Given the description of an element on the screen output the (x, y) to click on. 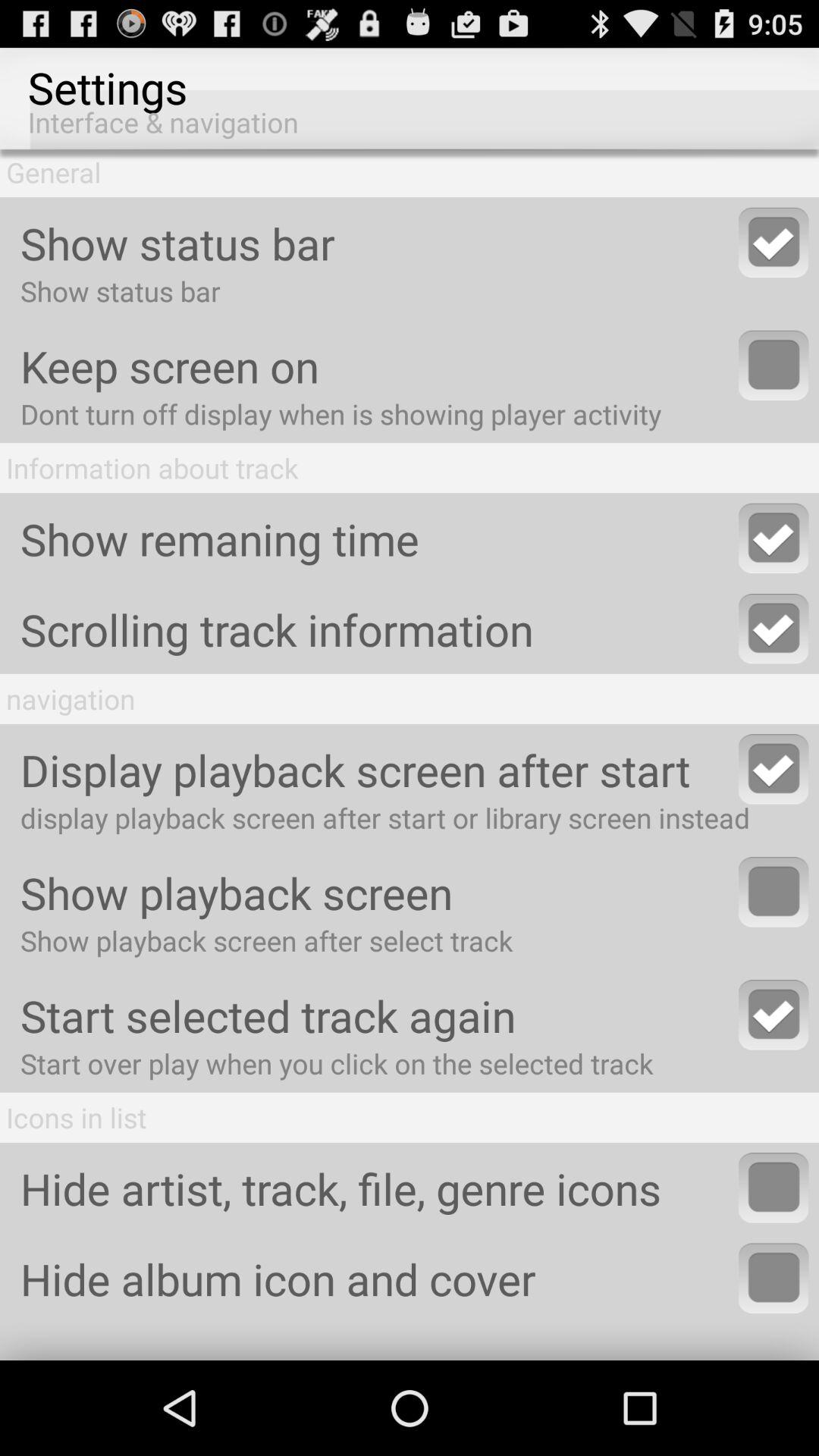
scrolling track information option (773, 628)
